Given the description of an element on the screen output the (x, y) to click on. 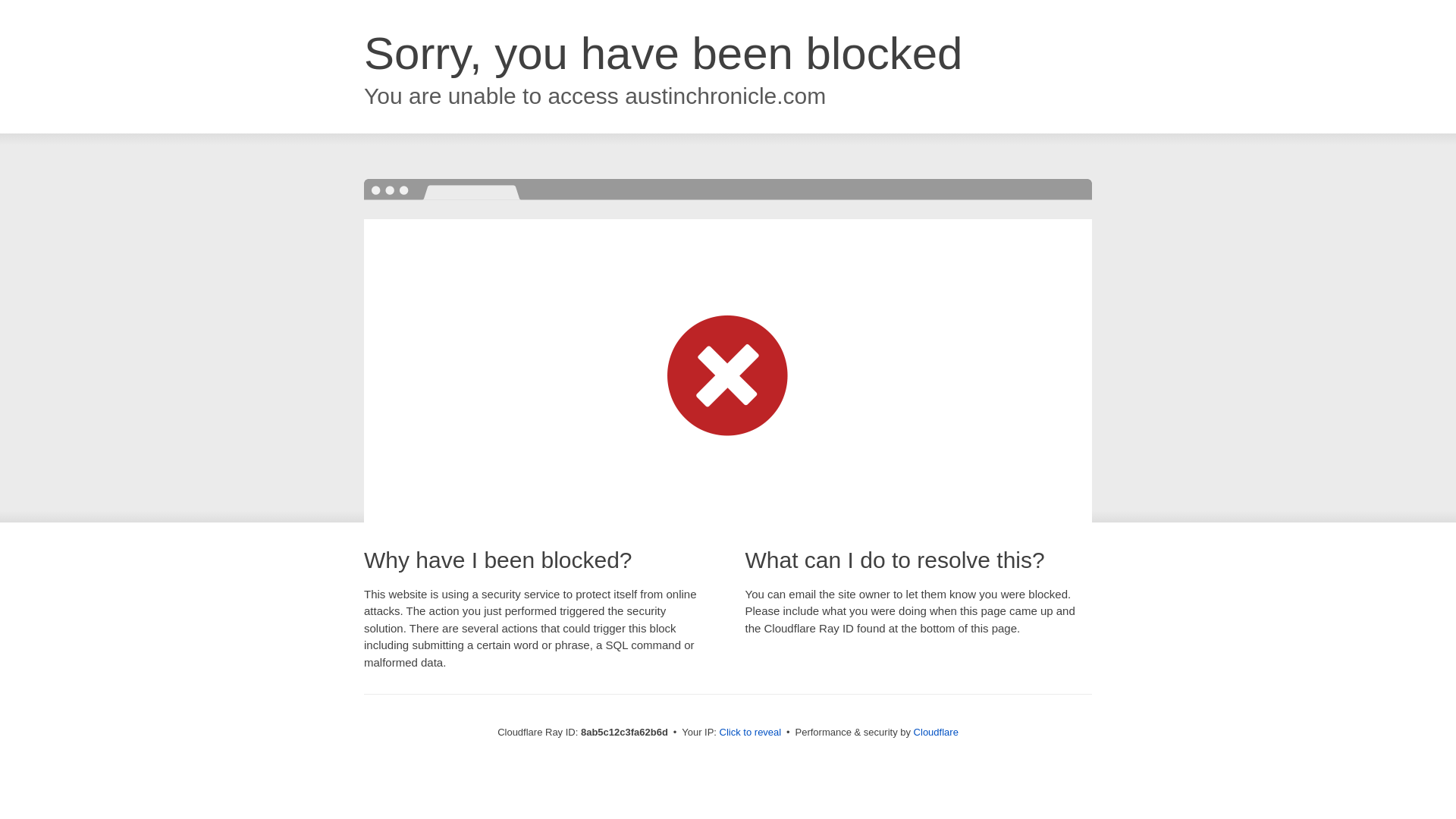
Cloudflare (936, 731)
Click to reveal (750, 732)
